Given the description of an element on the screen output the (x, y) to click on. 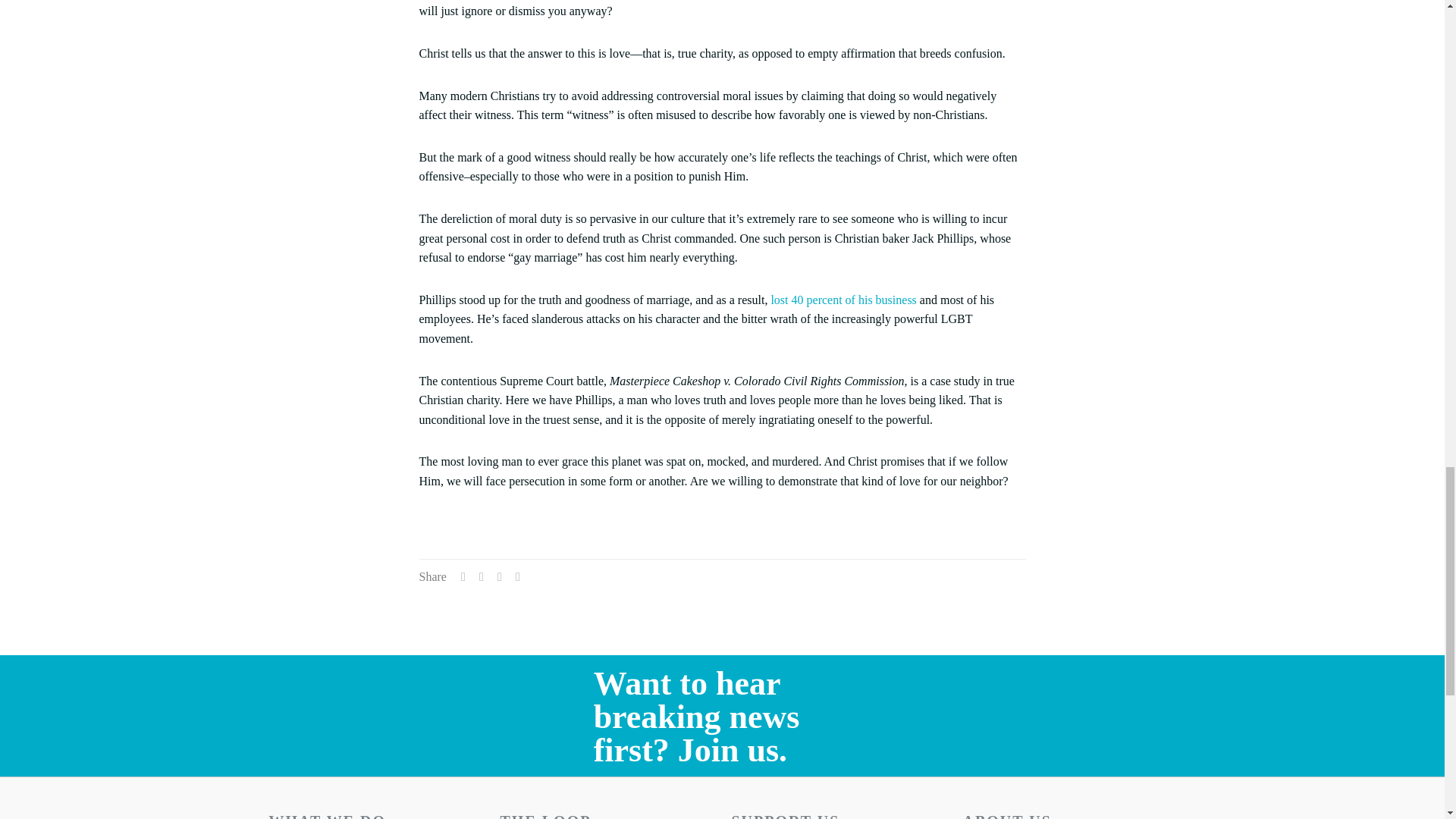
lost 40 percent of his business (841, 299)
